Given the description of an element on the screen output the (x, y) to click on. 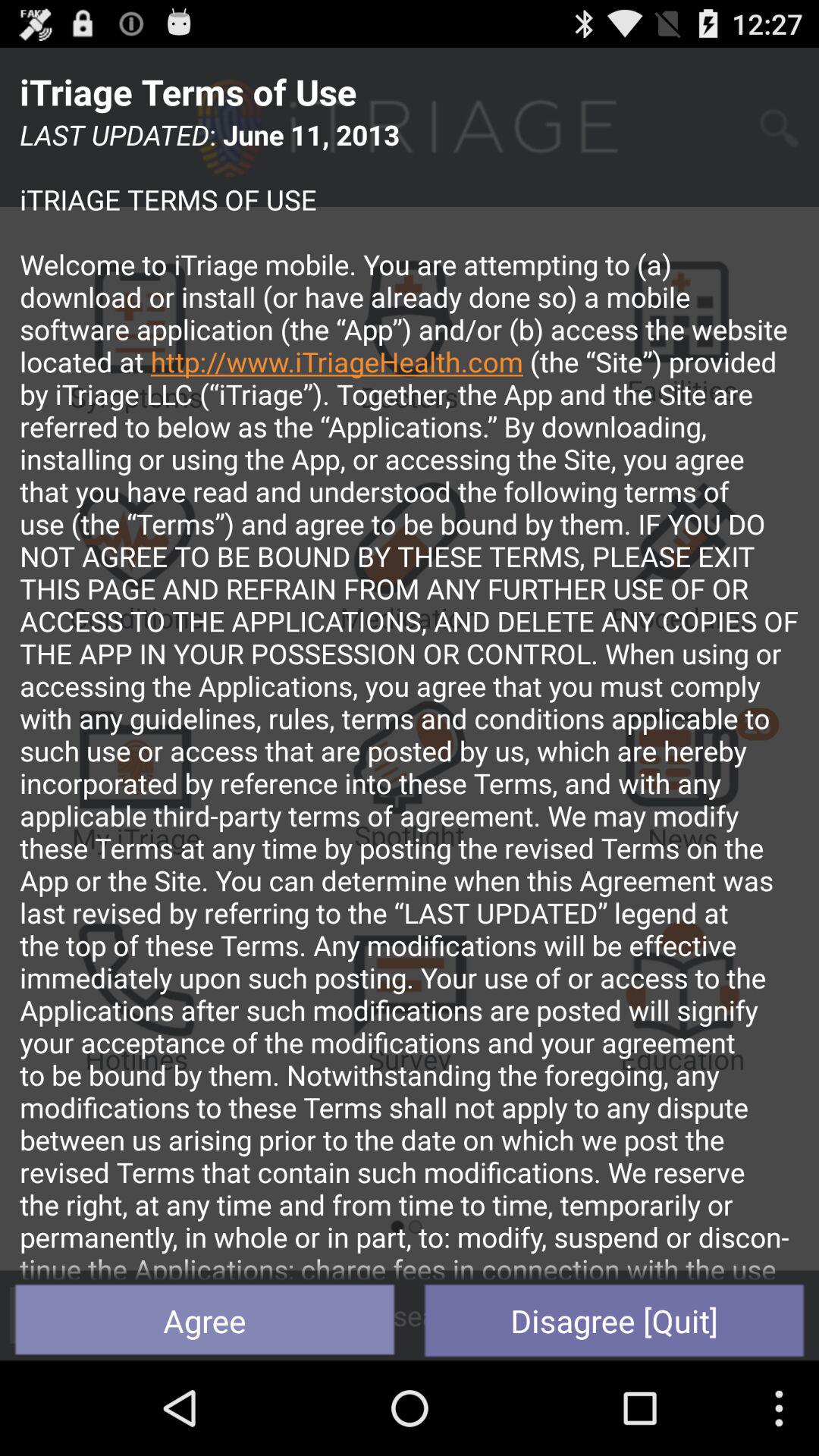
open the button to the left of the disagree [quit] item (204, 1320)
